Given the description of an element on the screen output the (x, y) to click on. 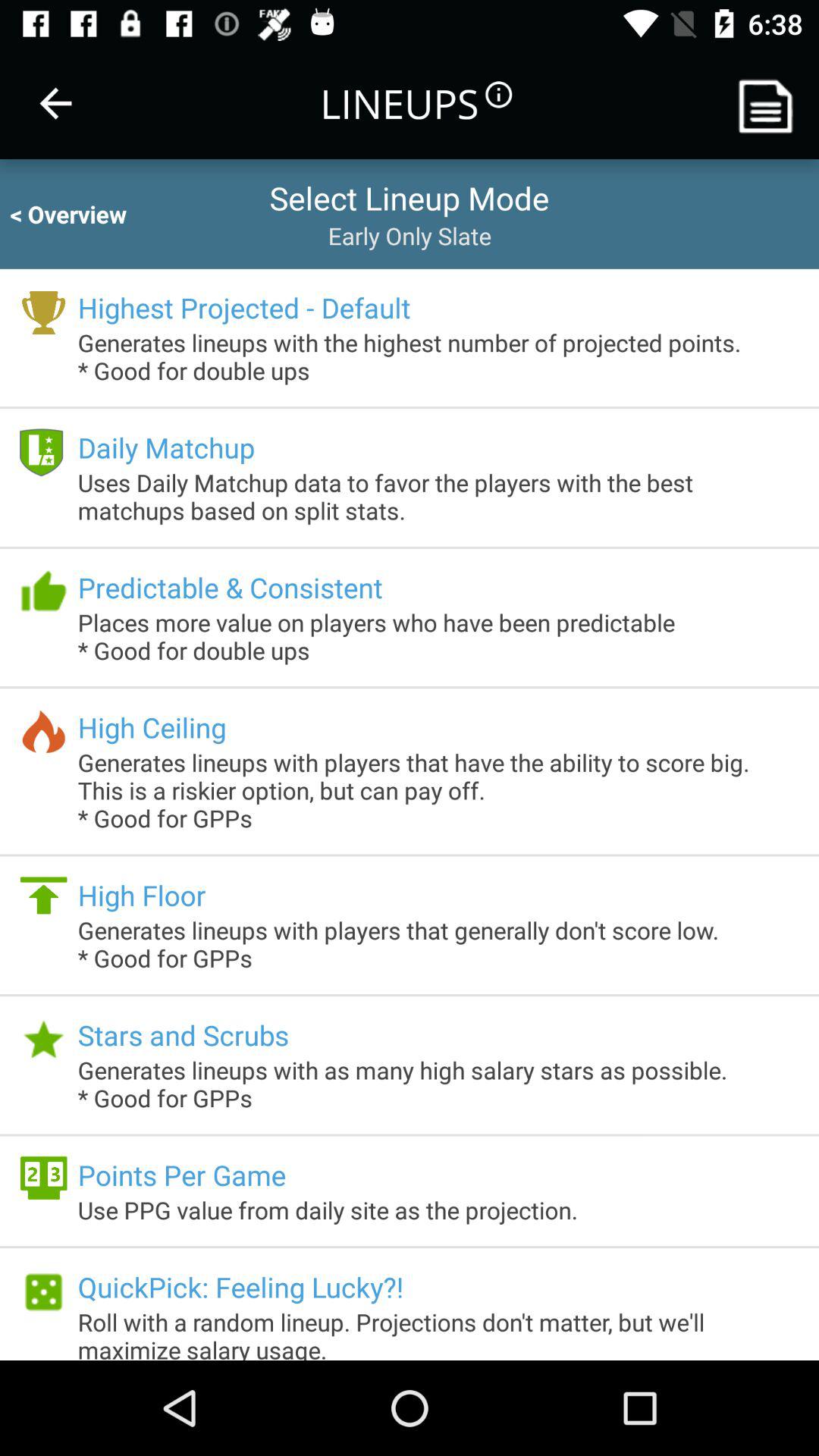
page view (771, 103)
